Given the description of an element on the screen output the (x, y) to click on. 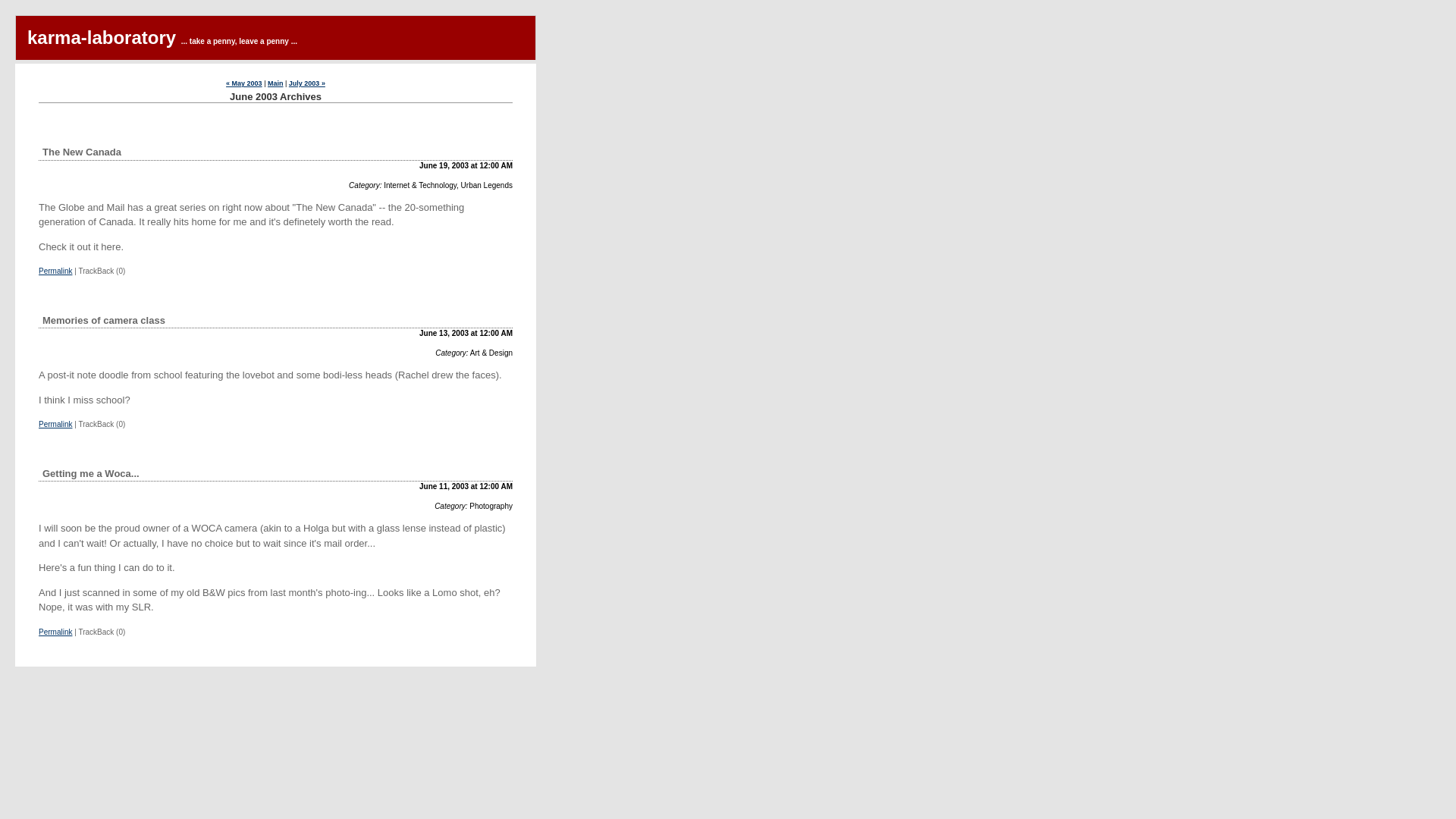
Main (275, 82)
Permalink (55, 424)
karma-laboratory (101, 37)
Permalink (55, 270)
Permalink (55, 632)
